Given the description of an element on the screen output the (x, y) to click on. 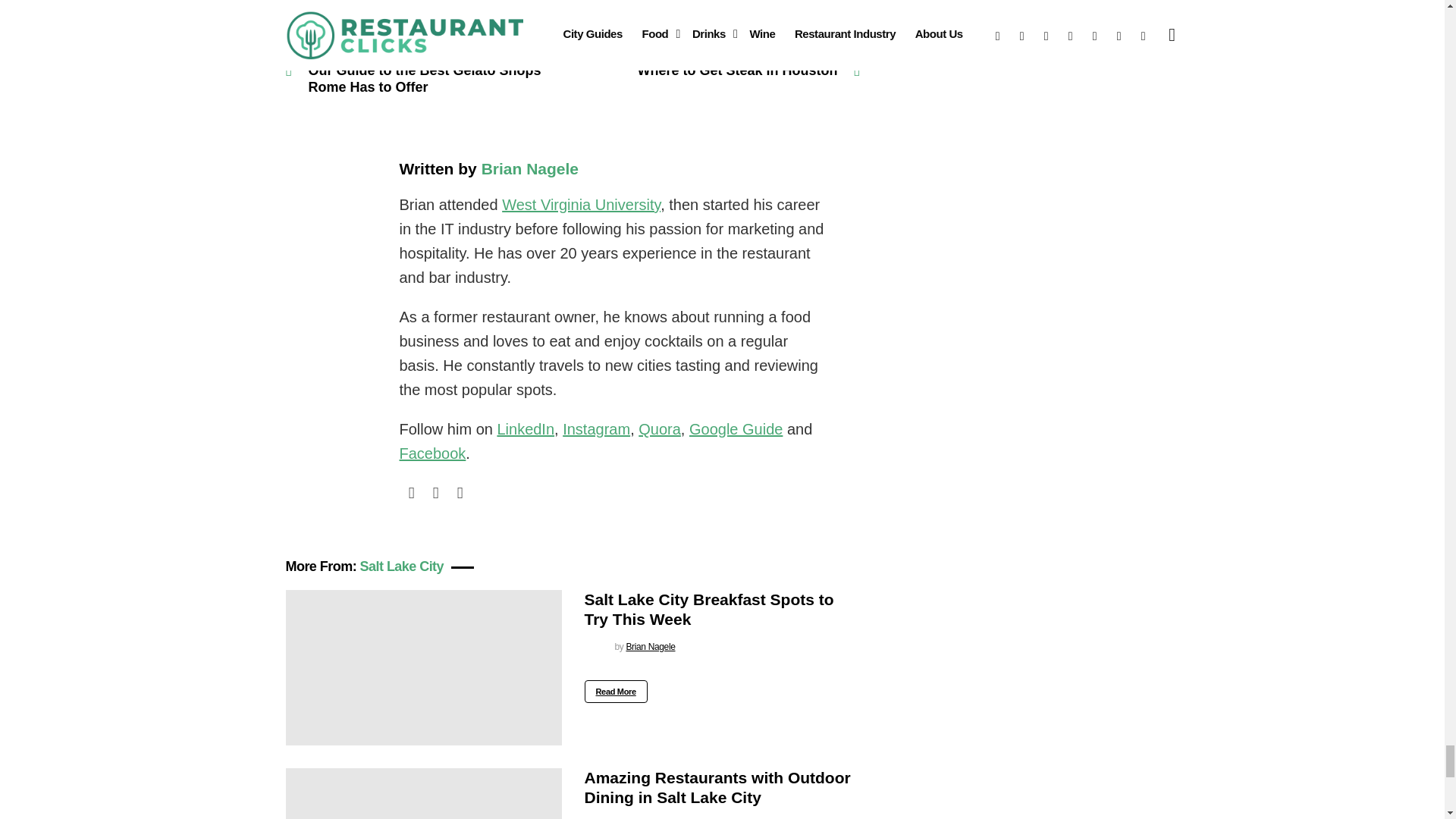
Amazing Restaurants with Outdoor Dining in Salt Lake City (422, 793)
Posts by Brian Nagele (650, 646)
Salt Lake City Breakfast Spots to Try This Week (422, 667)
